Given the description of an element on the screen output the (x, y) to click on. 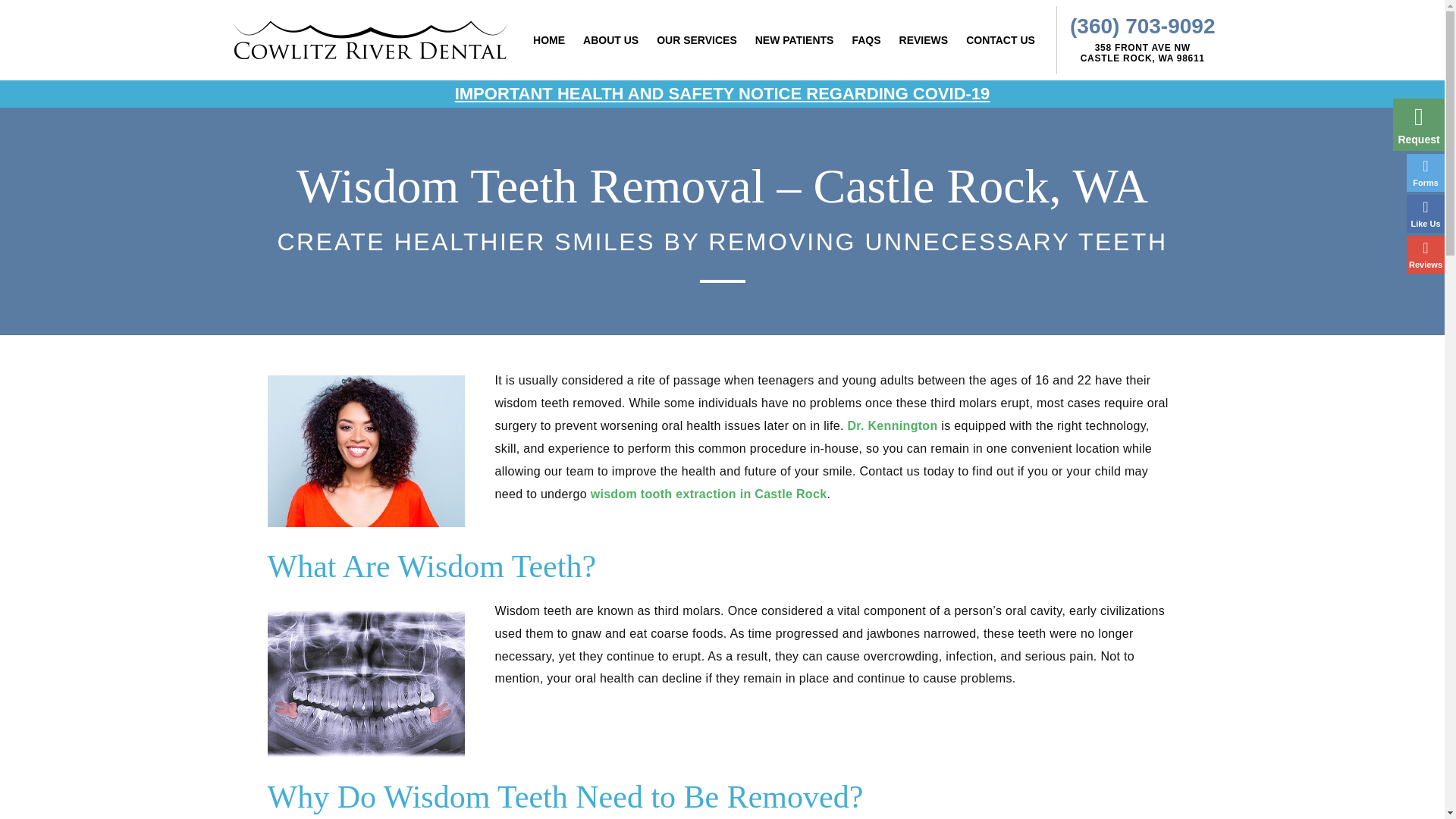
OUR SERVICES (696, 39)
Dentistry Services (1142, 53)
Castle Rock Dentist (696, 39)
About Us (548, 39)
ABOUT US (610, 39)
HOME (610, 39)
